Given the description of an element on the screen output the (x, y) to click on. 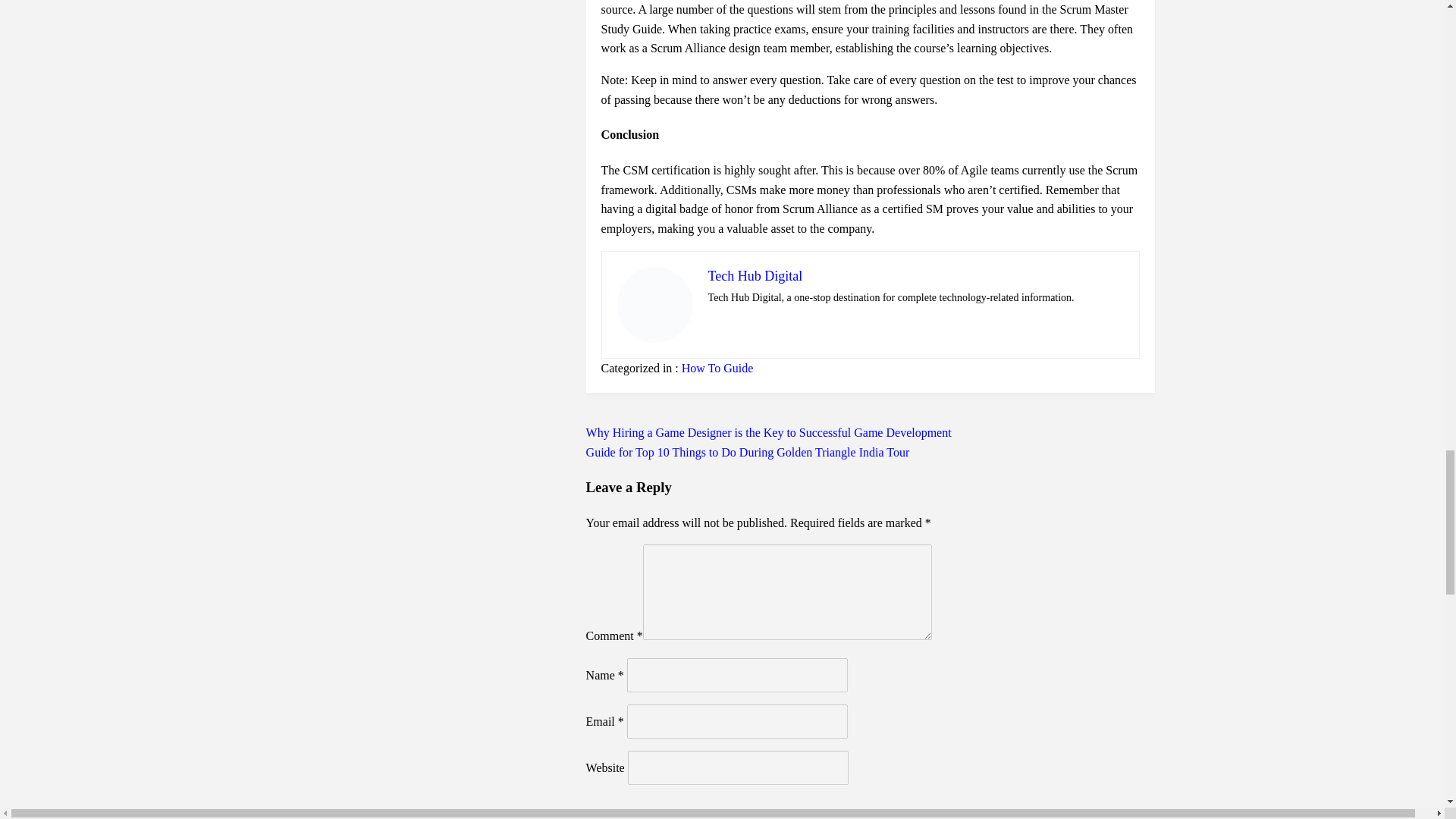
Post Comment (654, 815)
Tech Hub Digital (755, 275)
How To Guide (717, 367)
Post Comment (654, 815)
